Given the description of an element on the screen output the (x, y) to click on. 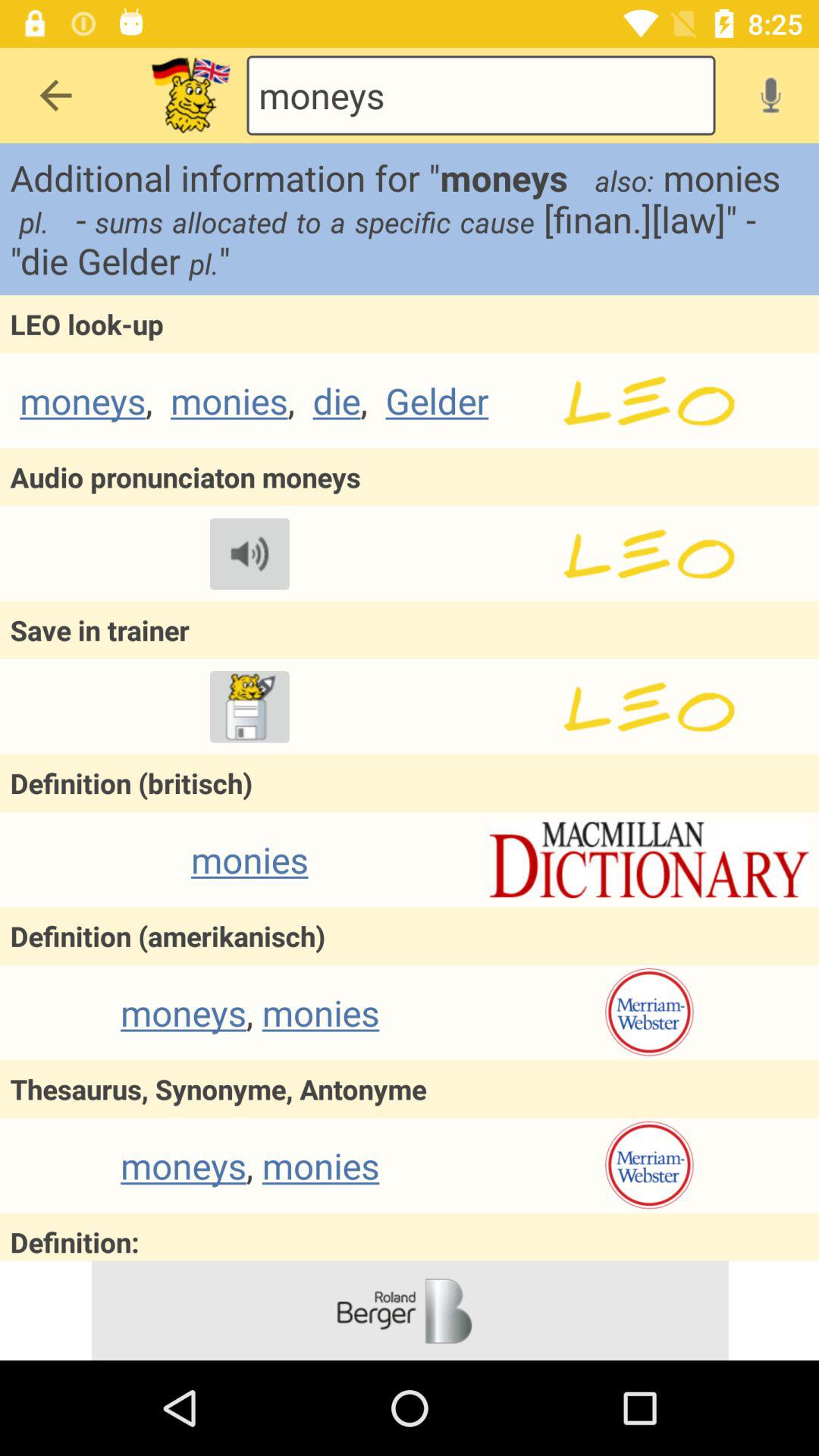
save in trainer (648, 706)
